Given the description of an element on the screen output the (x, y) to click on. 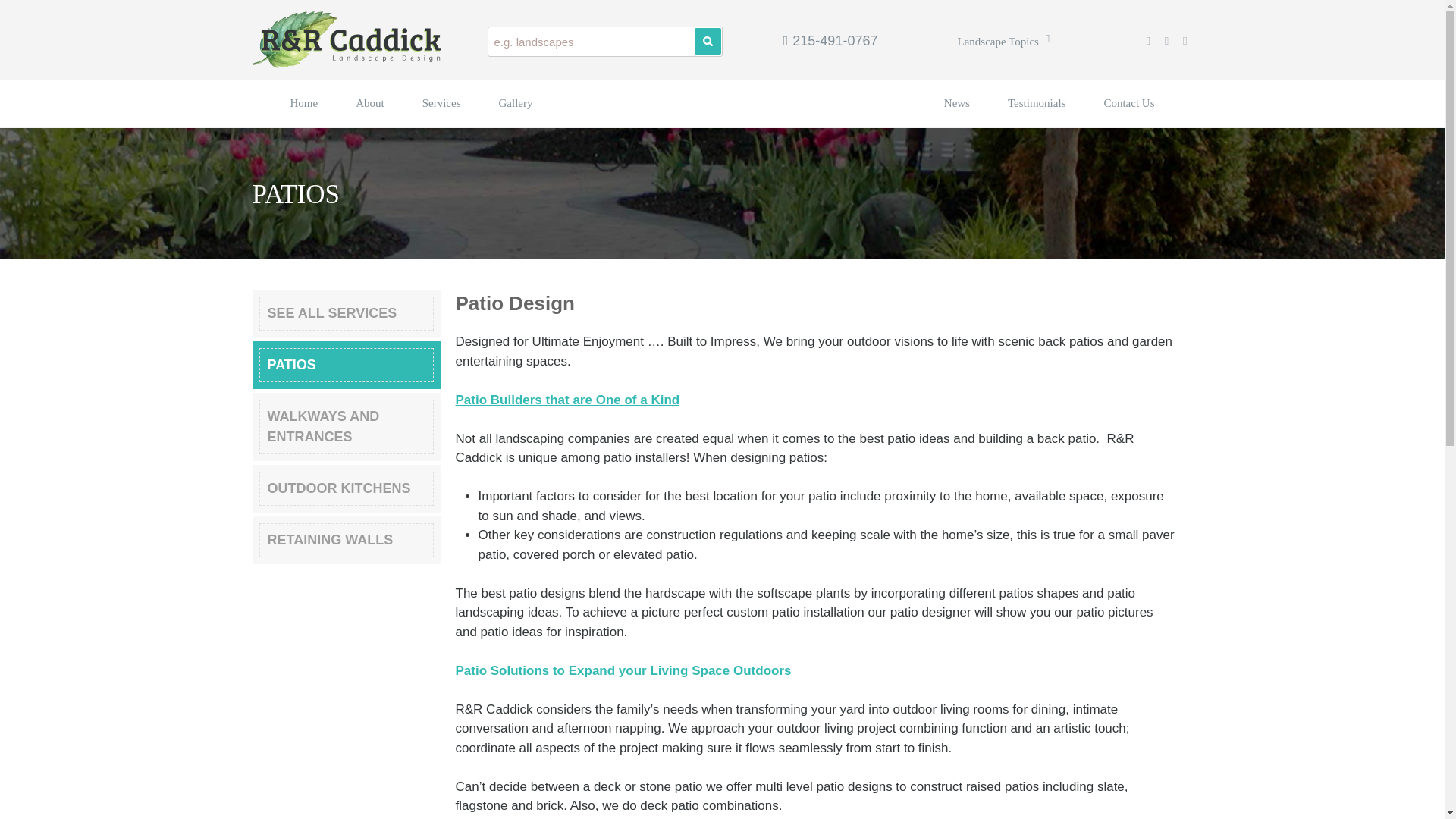
Contact Us (1128, 103)
215-491-0767 (830, 40)
SEE ALL SERVICES (346, 313)
News (956, 103)
About (369, 103)
Gallery (515, 103)
Testimonials (1036, 103)
Home (303, 103)
Services (441, 103)
